Given the description of an element on the screen output the (x, y) to click on. 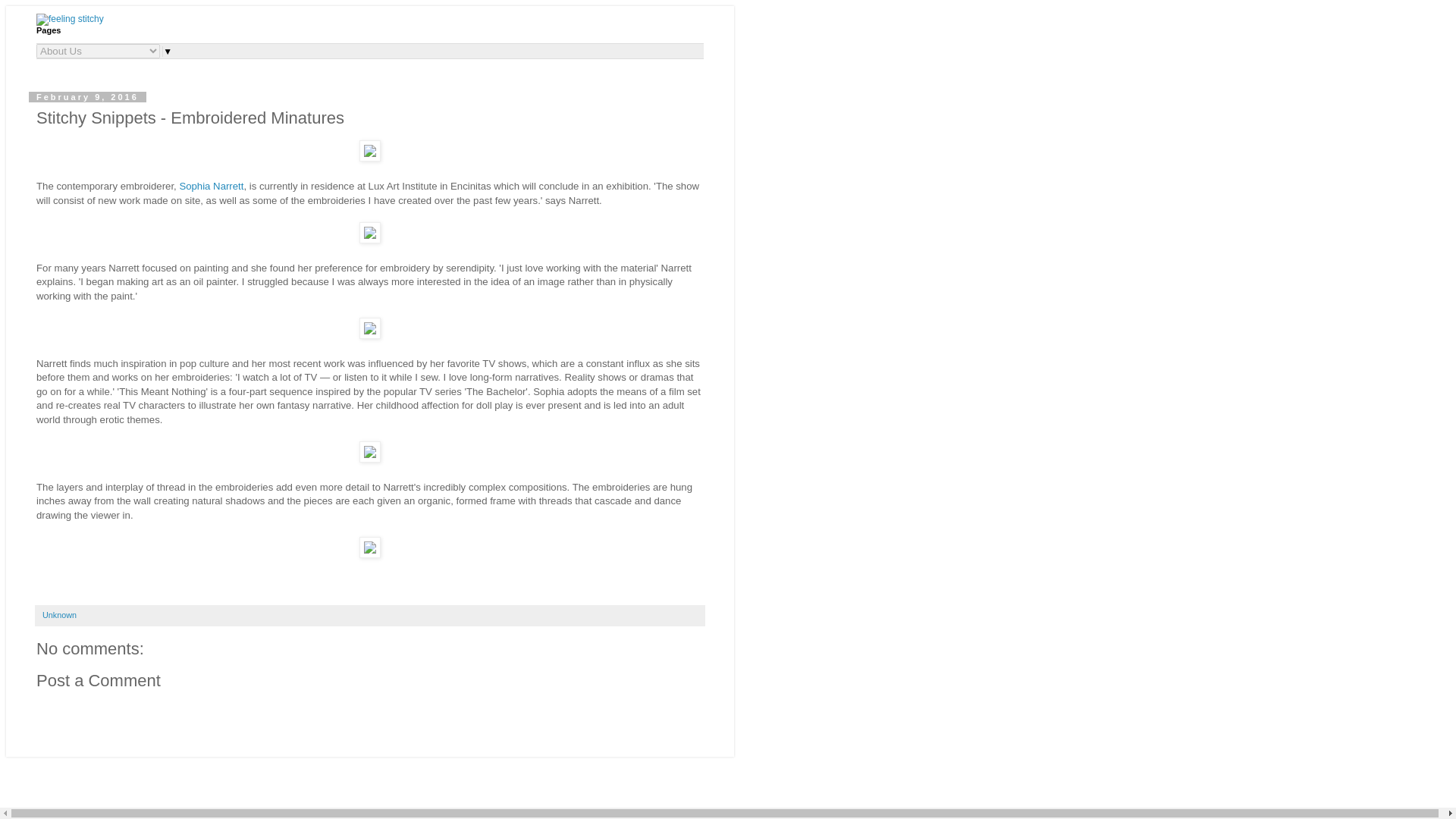
Unknown (59, 614)
Sophia Narrett (211, 185)
Post a Comment (98, 680)
author profile (59, 614)
